Given the description of an element on the screen output the (x, y) to click on. 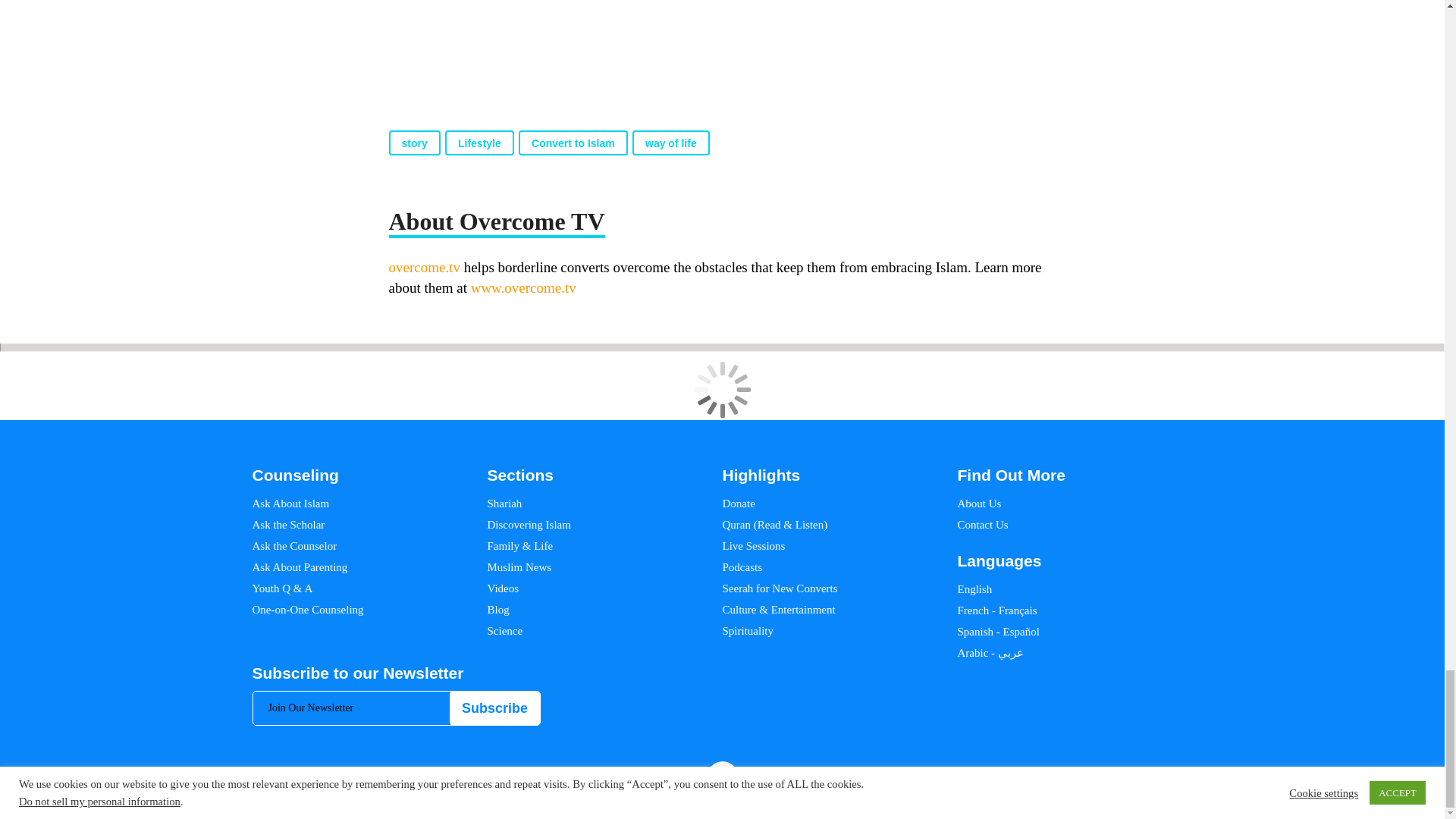
story (413, 142)
Convert to Islam Tag (572, 142)
Lifestyle (479, 142)
Join Our Newsletter (396, 707)
googleplus (1139, 777)
social-1 (1195, 777)
Facebook (1045, 777)
overcome.tv (424, 267)
instagram (1091, 777)
pinterest (1113, 777)
www.overcome.tv (523, 287)
Subscribe (494, 708)
way of life (670, 142)
way of life Tag (670, 142)
Lifestyle Tag (479, 142)
